Given the description of an element on the screen output the (x, y) to click on. 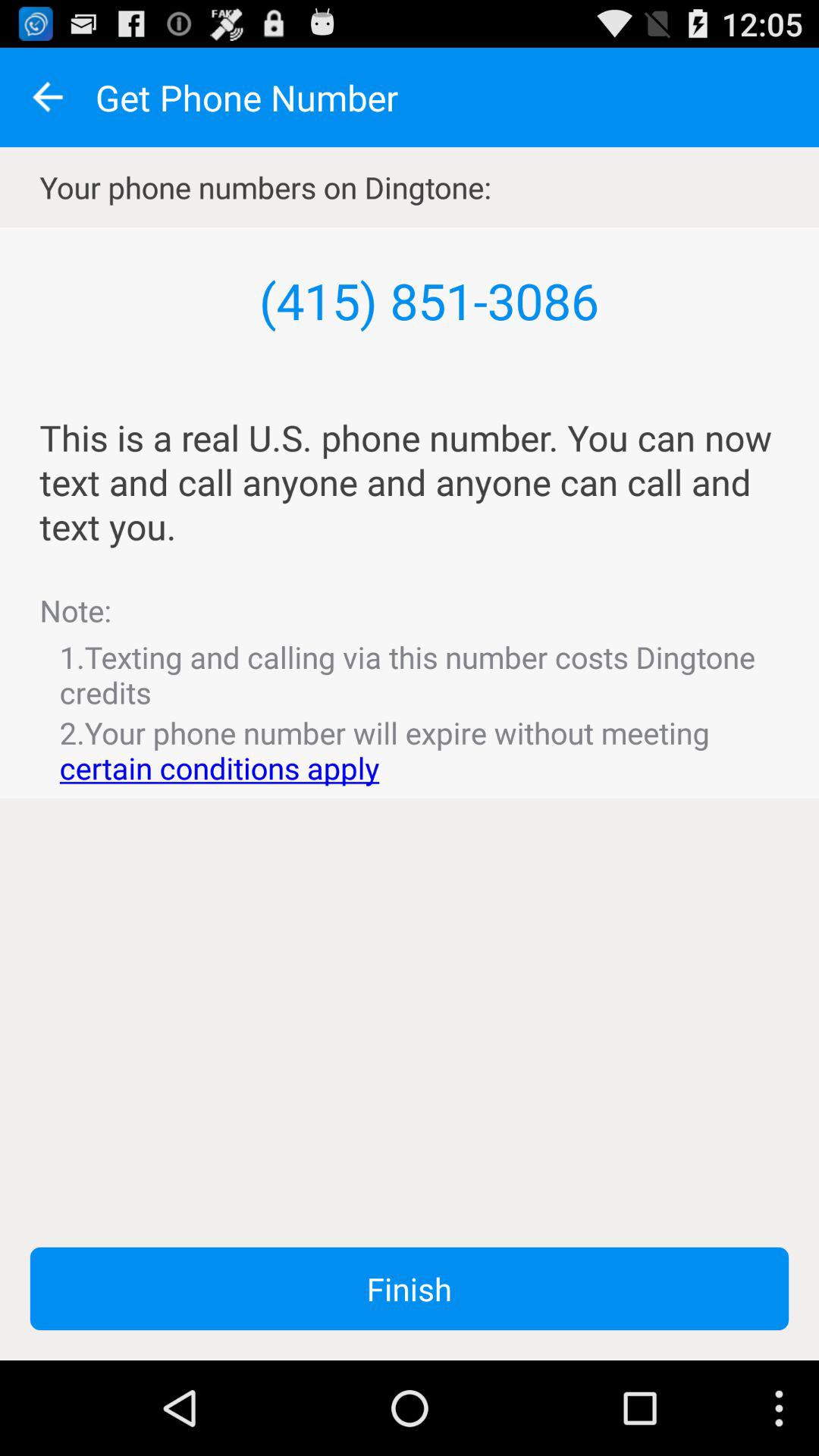
press the button at the bottom (409, 1288)
